Given the description of an element on the screen output the (x, y) to click on. 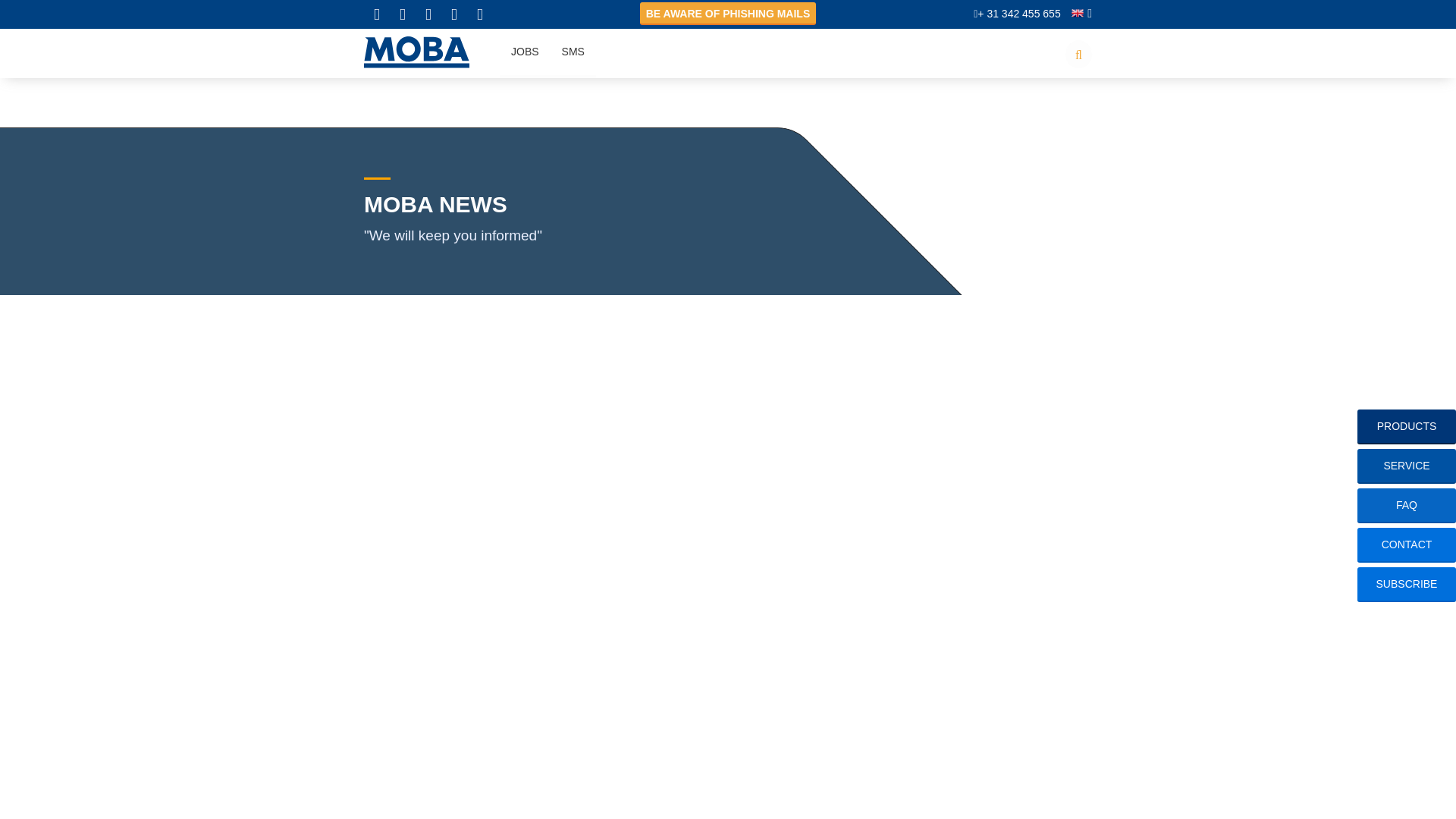
JOBS (524, 52)
BE AWARE OF PHISHING MAILS (728, 13)
